Given the description of an element on the screen output the (x, y) to click on. 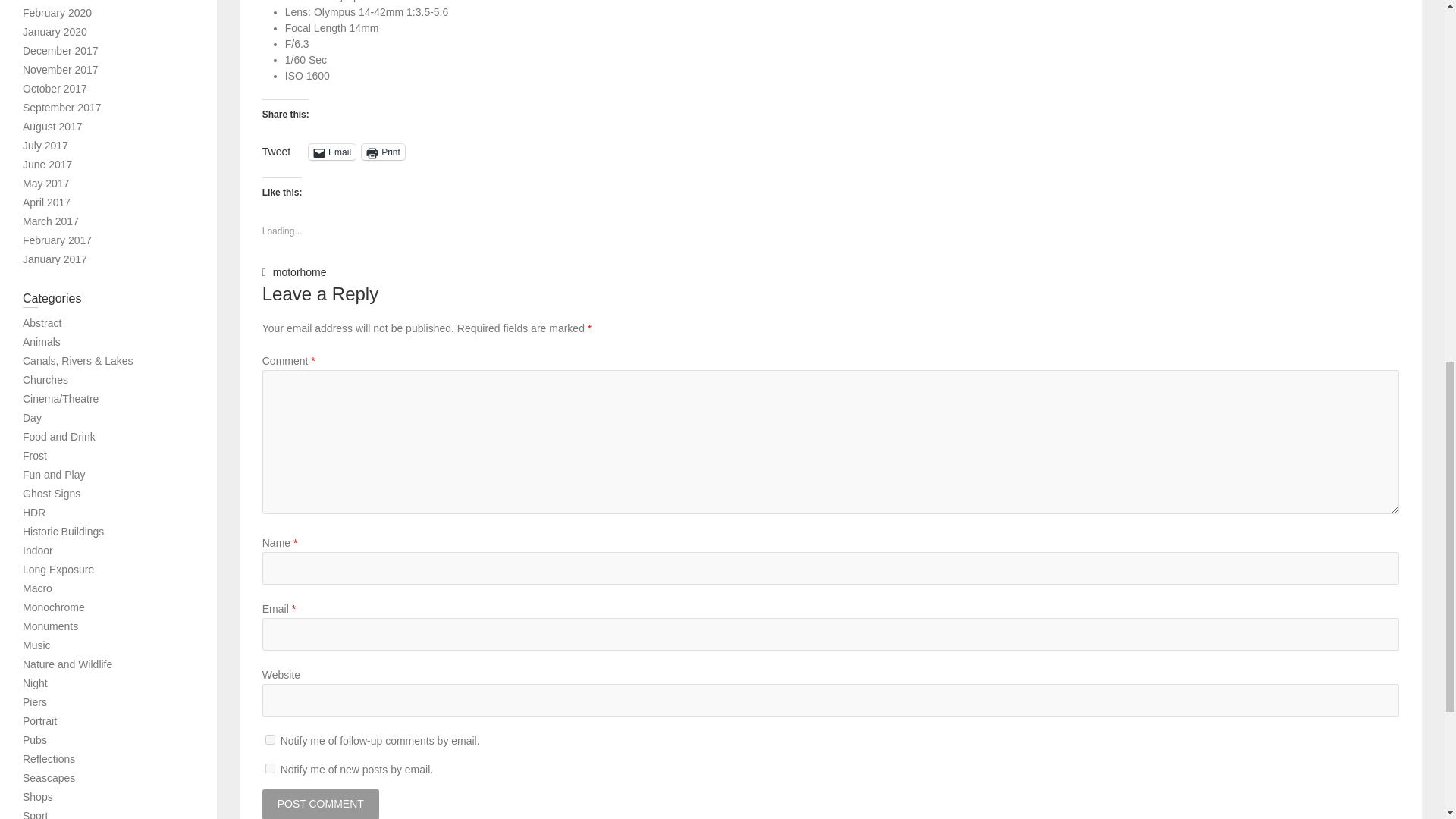
June 2017 (47, 164)
subscribe (269, 768)
November 2017 (61, 69)
July 2017 (45, 145)
October 2017 (55, 88)
August 2017 (52, 126)
motorhome (299, 272)
September 2017 (62, 107)
Tweet (275, 151)
February 2020 (57, 12)
